Given the description of an element on the screen output the (x, y) to click on. 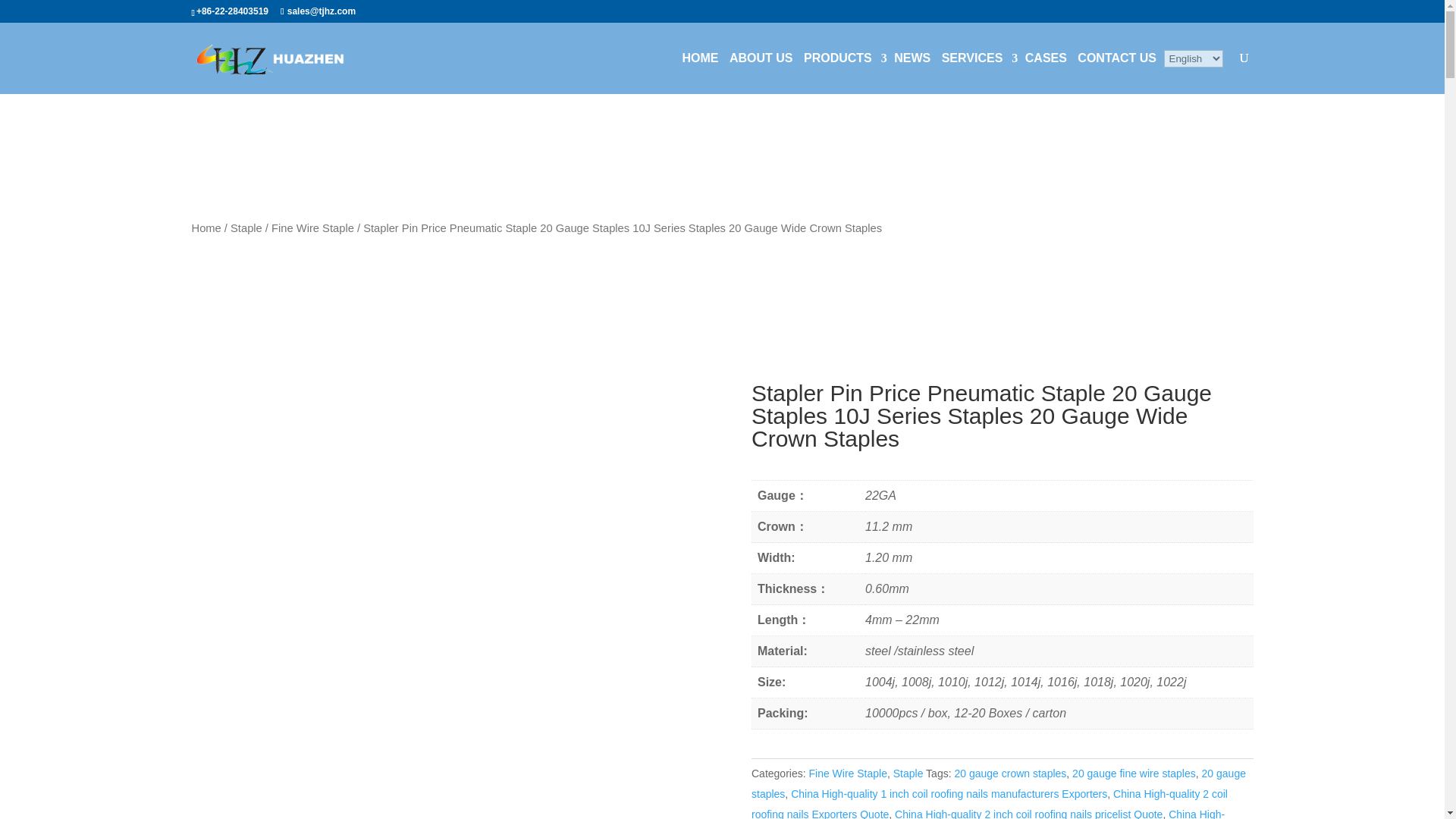
China High-quality 2 inch coil roofing nails pricelist Quote (1028, 813)
Staple (908, 773)
Fine Wire Staple (311, 227)
China High-quality 2 coil roofing nails Exporters Quote (989, 803)
SERVICES (977, 58)
Fine Wire Staple (847, 773)
20 gauge fine wire staples (1133, 773)
Staple (246, 227)
20 gauge staples (998, 783)
